Given the description of an element on the screen output the (x, y) to click on. 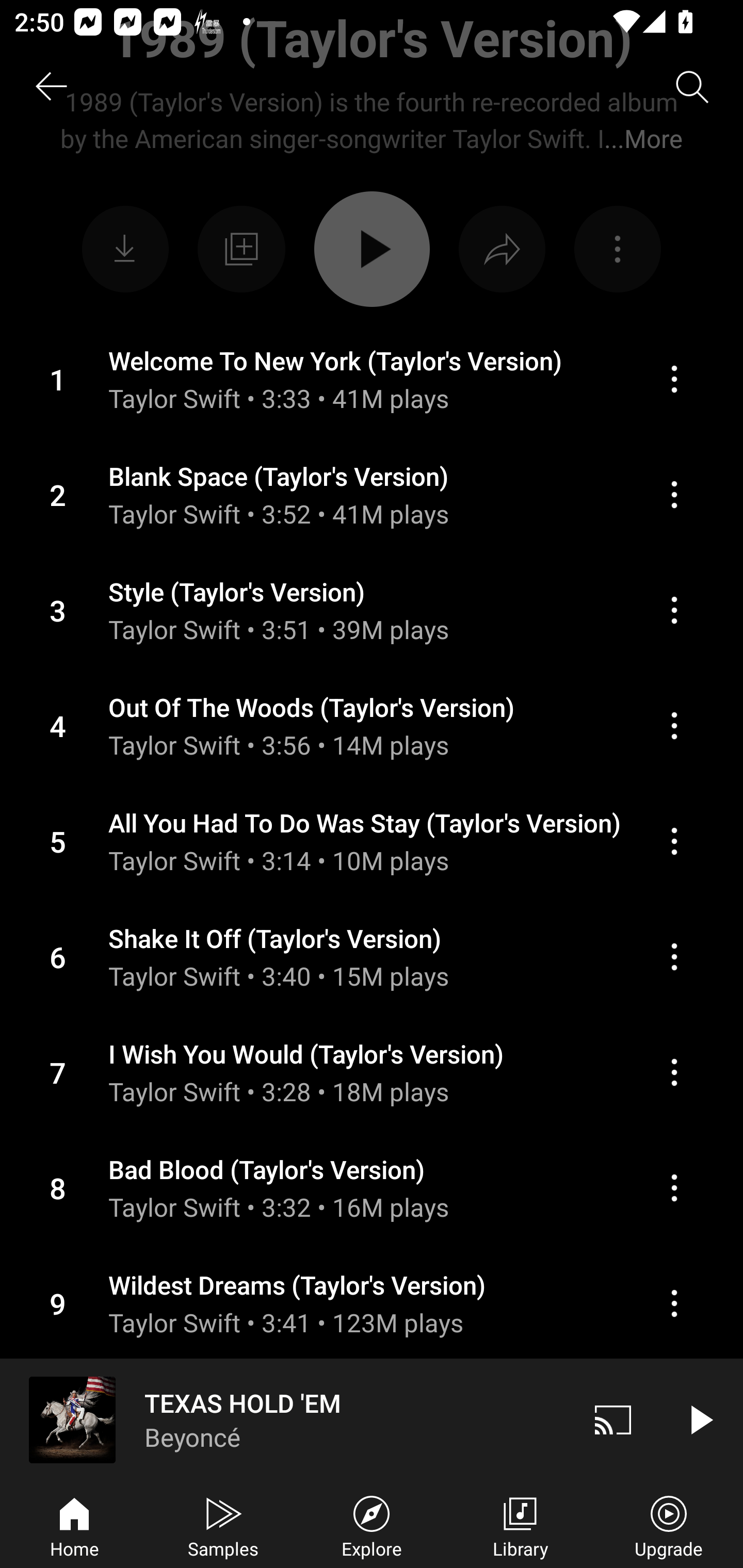
Back (50, 86)
Search (692, 86)
PLAY ALL (371, 249)
Download (125, 249)
Share (501, 249)
Action menu (617, 249)
Save to library (241, 249)
Action menu (371, 379)
Action menu (673, 378)
Action menu (371, 494)
Action menu (673, 494)
Action menu (371, 609)
Action menu (673, 610)
Action menu (371, 725)
Action menu (673, 725)
Action menu (371, 841)
Action menu (673, 841)
Action menu (371, 956)
Action menu (673, 957)
Action menu (371, 1072)
Action menu (673, 1072)
Action menu (371, 1187)
Action menu (673, 1187)
Action menu (371, 1302)
Action menu (673, 1303)
Action menu (371, 1419)
Cast. Disconnected (612, 1419)
Play video (699, 1419)
Home (74, 1524)
Samples (222, 1524)
Explore (371, 1524)
Library (519, 1524)
Upgrade (668, 1524)
